Given the description of an element on the screen output the (x, y) to click on. 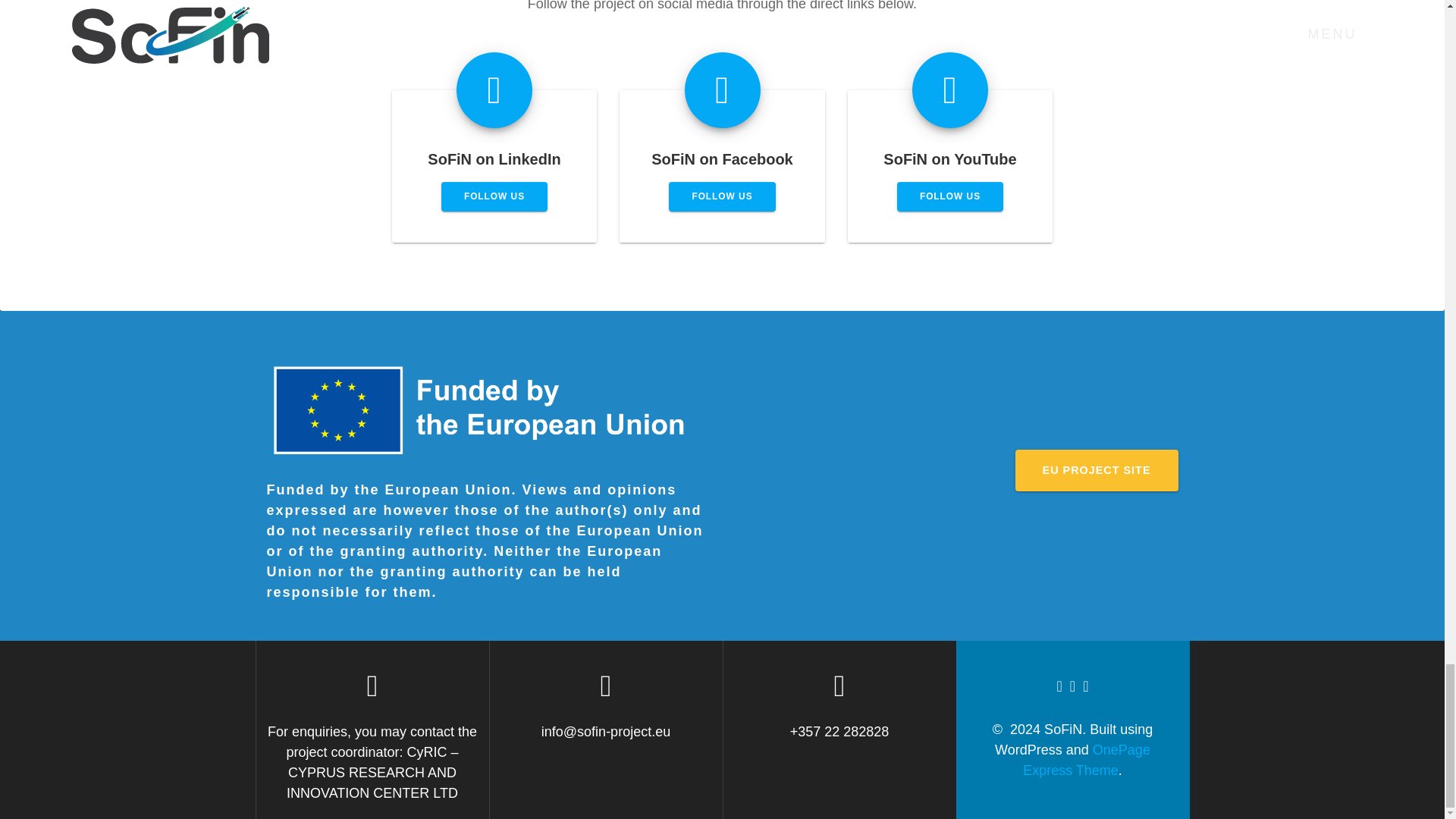
FOLLOW US (721, 196)
FOLLOW US (494, 196)
EU PROJECT SITE (1095, 470)
FOLLOW US (949, 196)
